Given the description of an element on the screen output the (x, y) to click on. 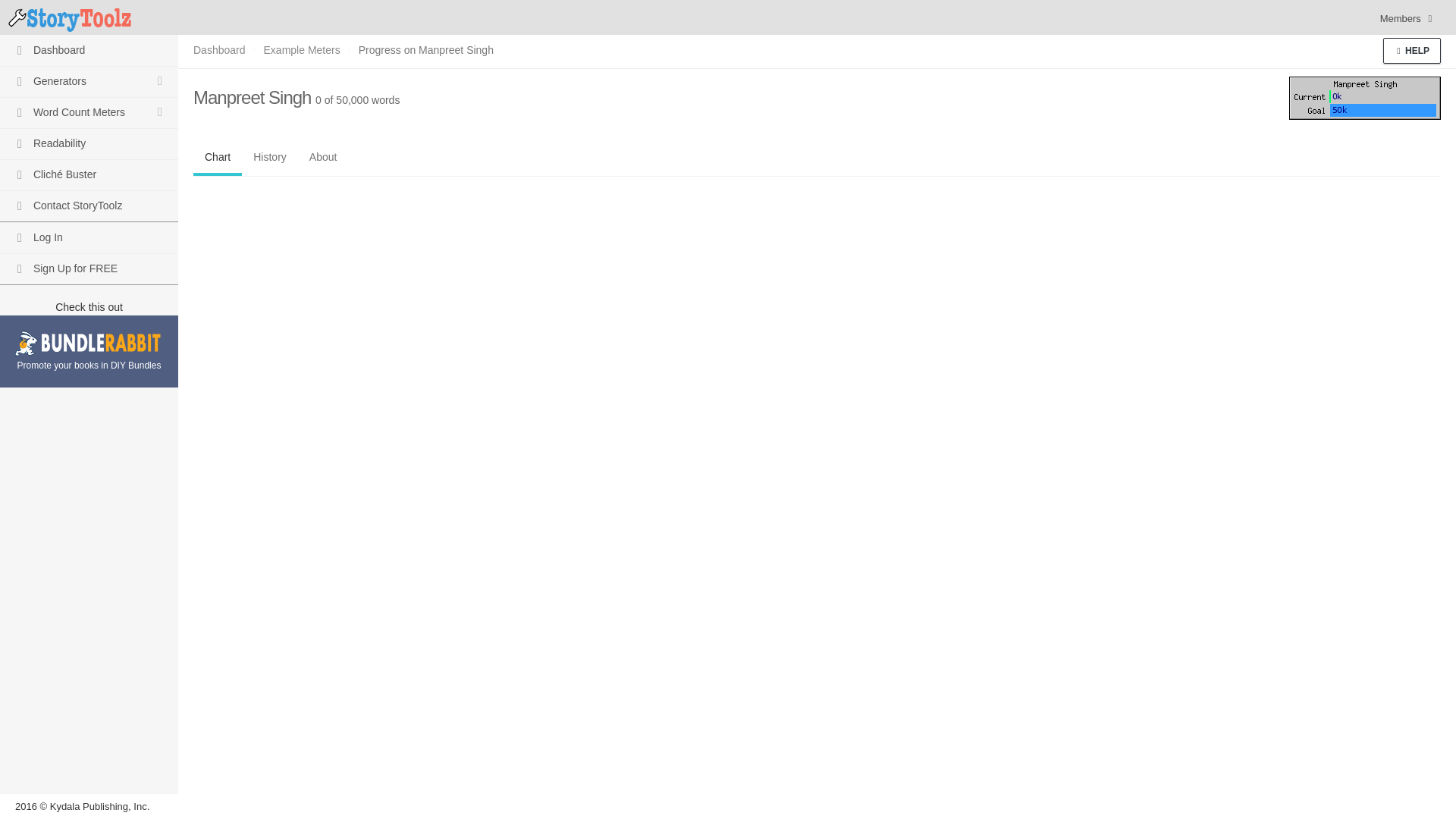
Promote your books in DIY Bundles (88, 352)
Dashboard (88, 50)
Example Meters (301, 50)
Word Count Meters (88, 112)
Members (1407, 18)
About (323, 157)
Log In (88, 237)
Generators (88, 81)
Dashboard (219, 50)
Chart (217, 157)
History (269, 157)
Readability (88, 142)
Contact StoryToolz (88, 205)
HELP (1412, 50)
Sign Up for FREE (88, 268)
